Given the description of an element on the screen output the (x, y) to click on. 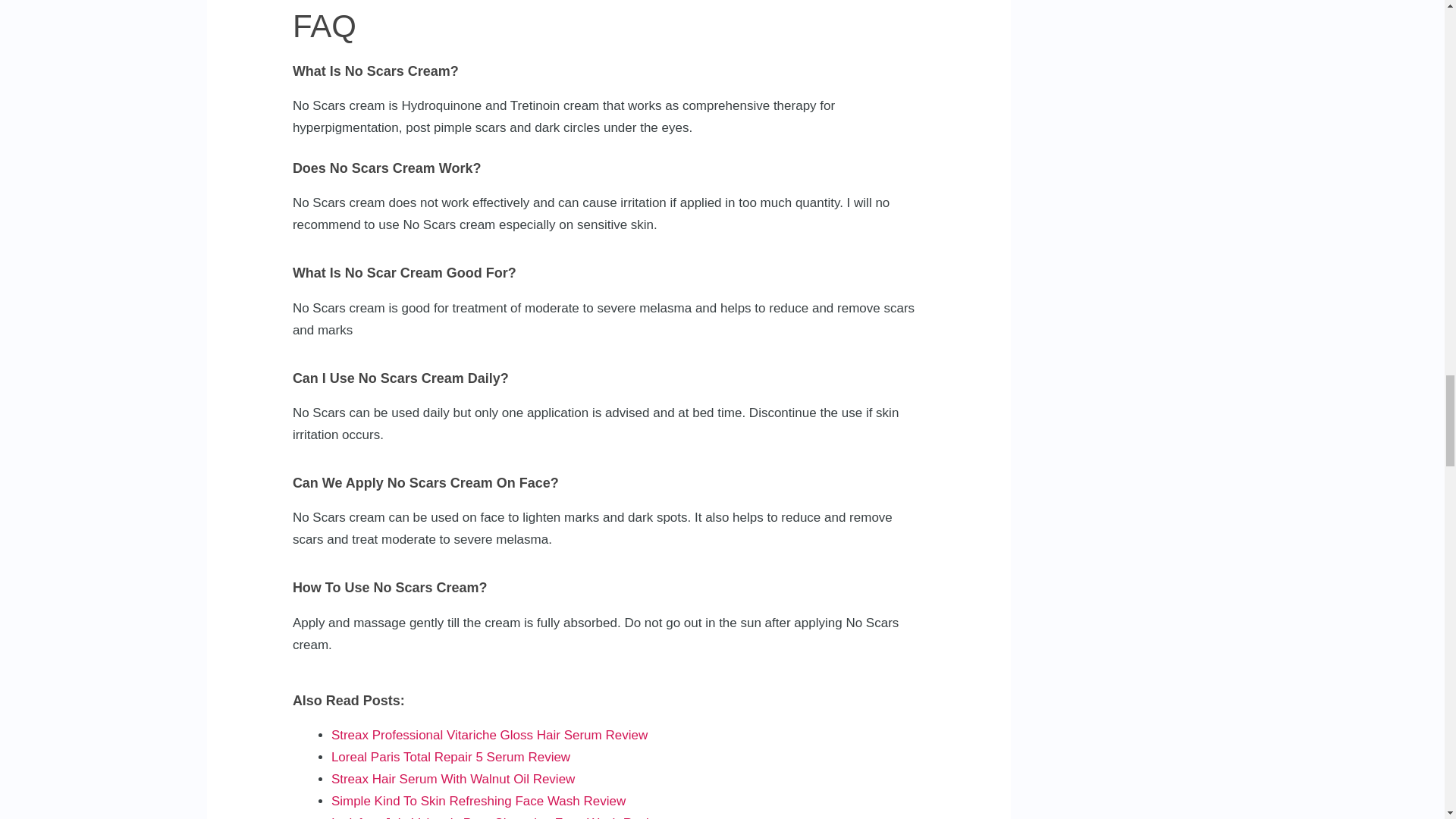
Streax Hair Serum With Walnut Oil Review (453, 779)
Simple Kind To Skin Refreshing Face Wash Review (478, 800)
Streax Professional Vitariche Gloss Hair Serum Review (489, 735)
Loreal Paris Total Repair 5 Serum Review (450, 757)
